Given the description of an element on the screen output the (x, y) to click on. 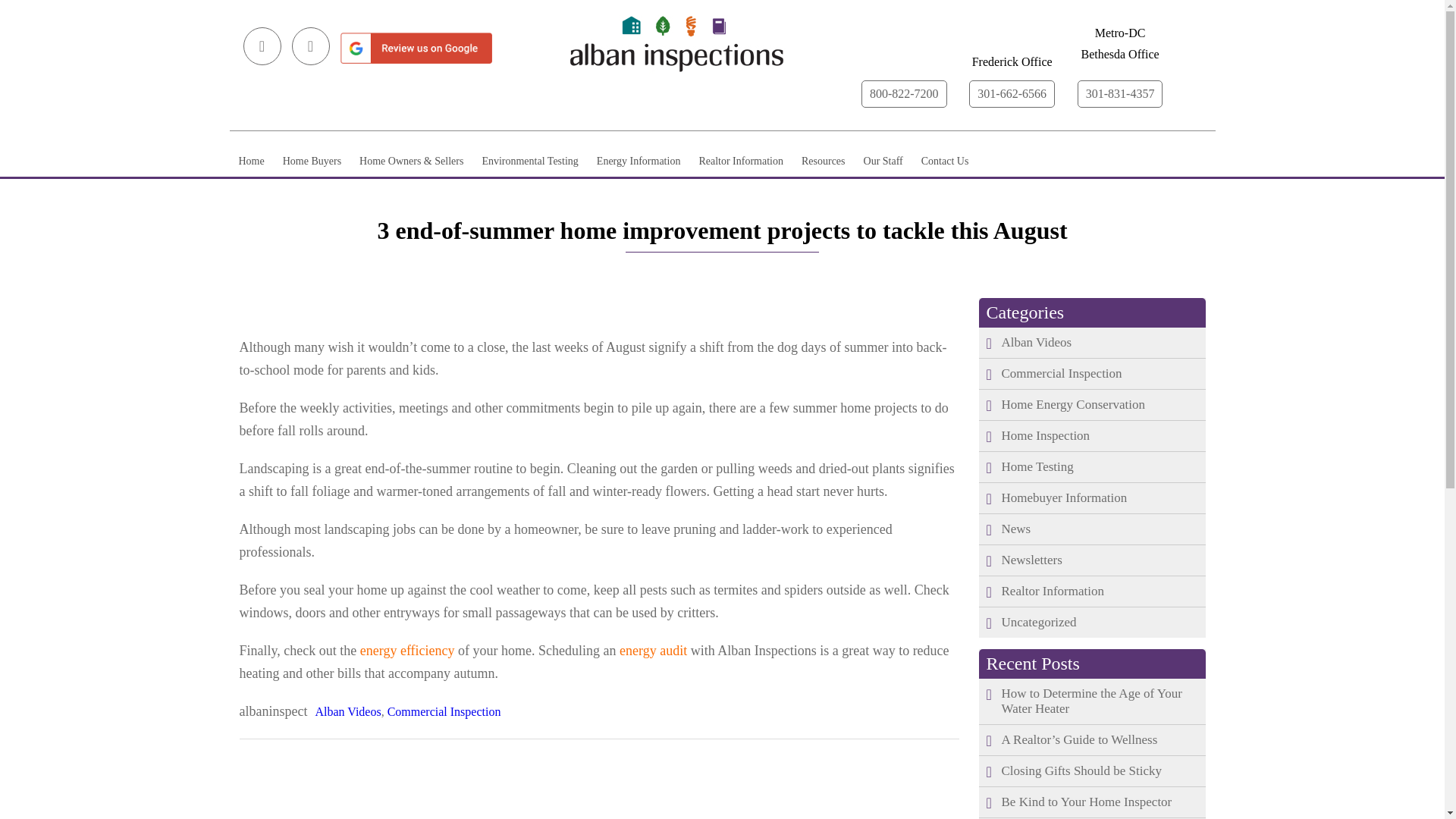
Home Buyers (311, 161)
Realtor Information (740, 161)
Energy Information (639, 161)
301-831-4357 (1120, 93)
Environmental Testing (528, 161)
Metro-DC Bethesda Office (1120, 43)
800-822-7200 (904, 93)
301-662-6566 (1011, 93)
Home (250, 161)
